Given the description of an element on the screen output the (x, y) to click on. 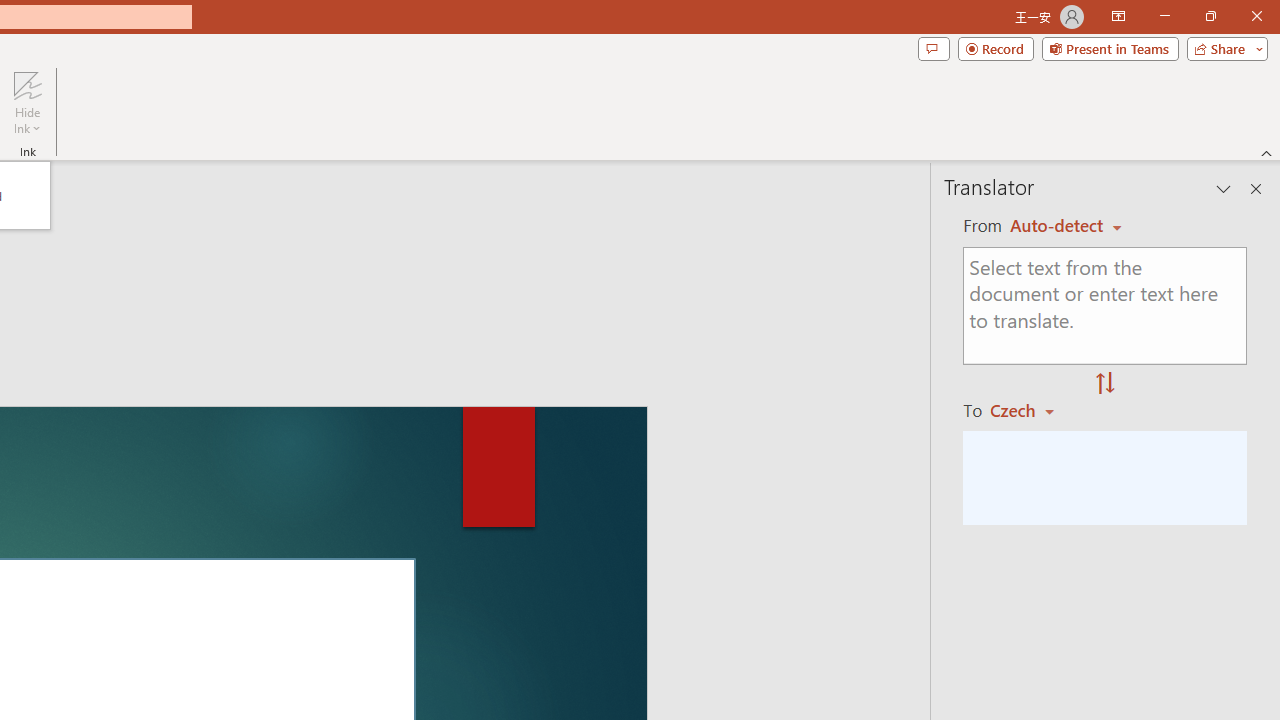
Auto-detect (1066, 225)
Czech (1030, 409)
